Given the description of an element on the screen output the (x, y) to click on. 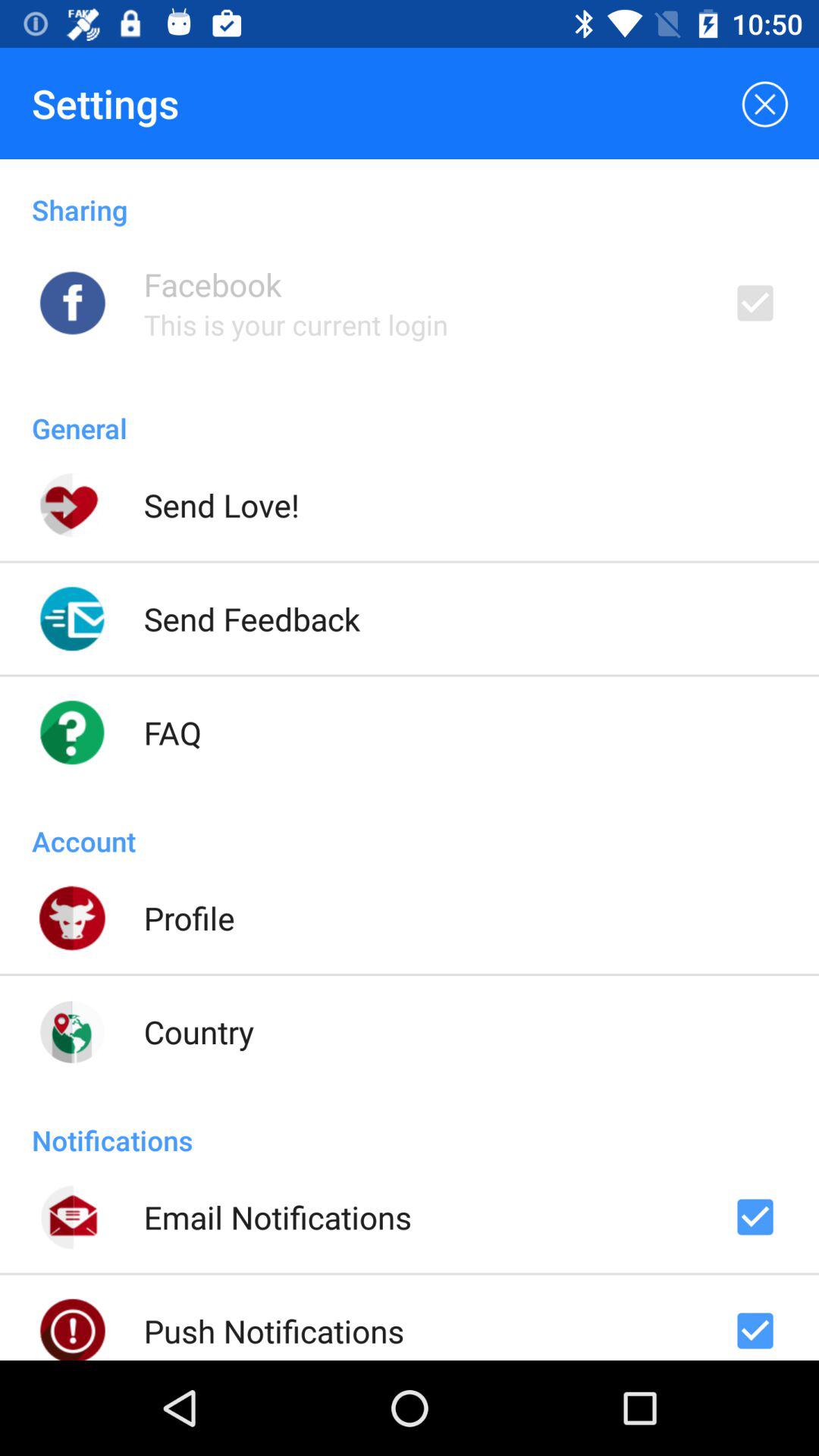
open country icon (198, 1031)
